Given the description of an element on the screen output the (x, y) to click on. 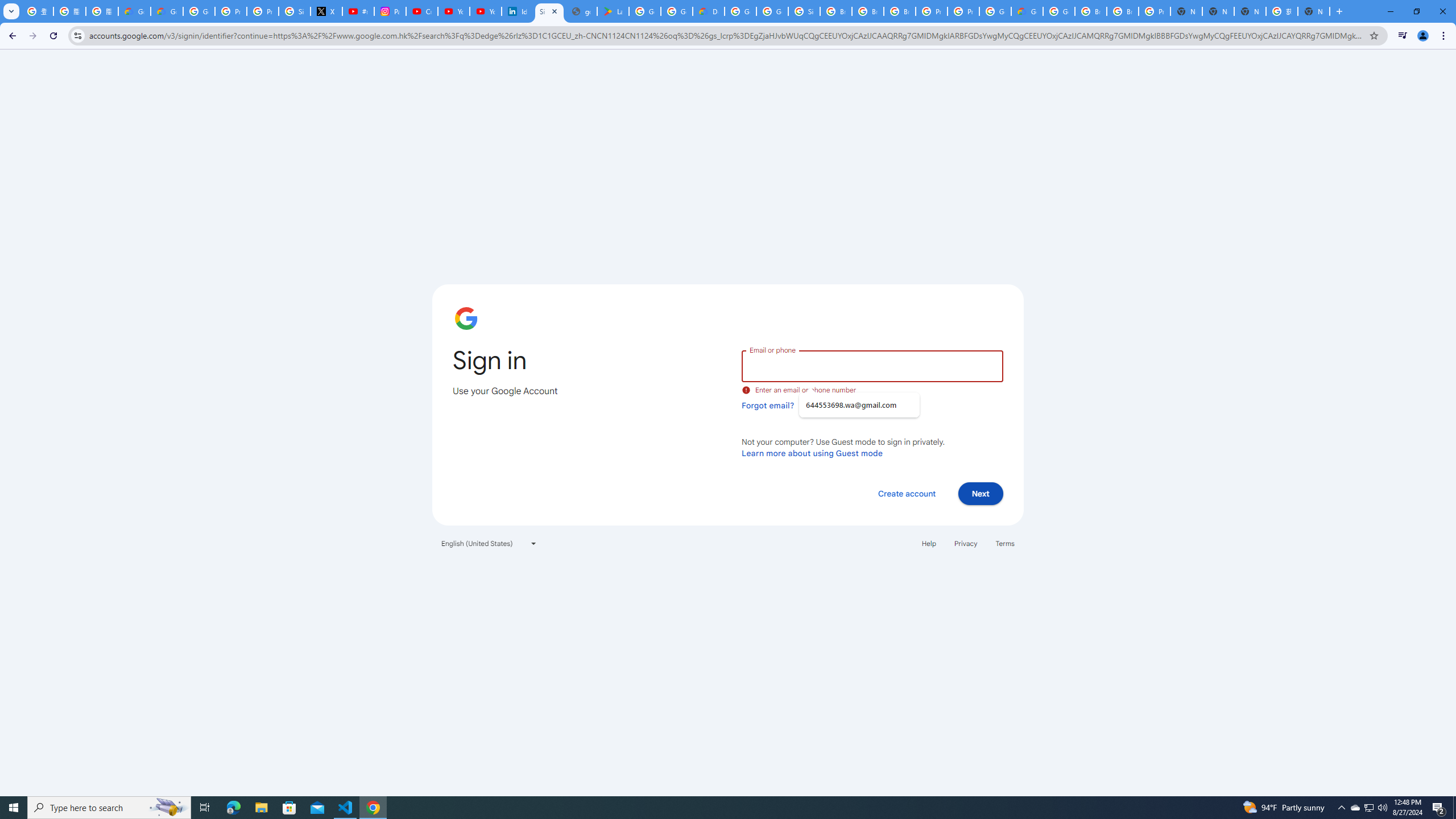
Email or phone (871, 365)
Google Cloud Platform (740, 11)
Google Cloud Estimate Summary (1027, 11)
New Tab (1185, 11)
X (326, 11)
Privacy Help Center - Policies Help (262, 11)
Sign in - Google Accounts (294, 11)
Privacy Help Center - Policies Help (230, 11)
Browse Chrome as a guest - Computer - Google Chrome Help (1091, 11)
Browse Chrome as a guest - Computer - Google Chrome Help (836, 11)
Privacy (965, 542)
